Given the description of an element on the screen output the (x, y) to click on. 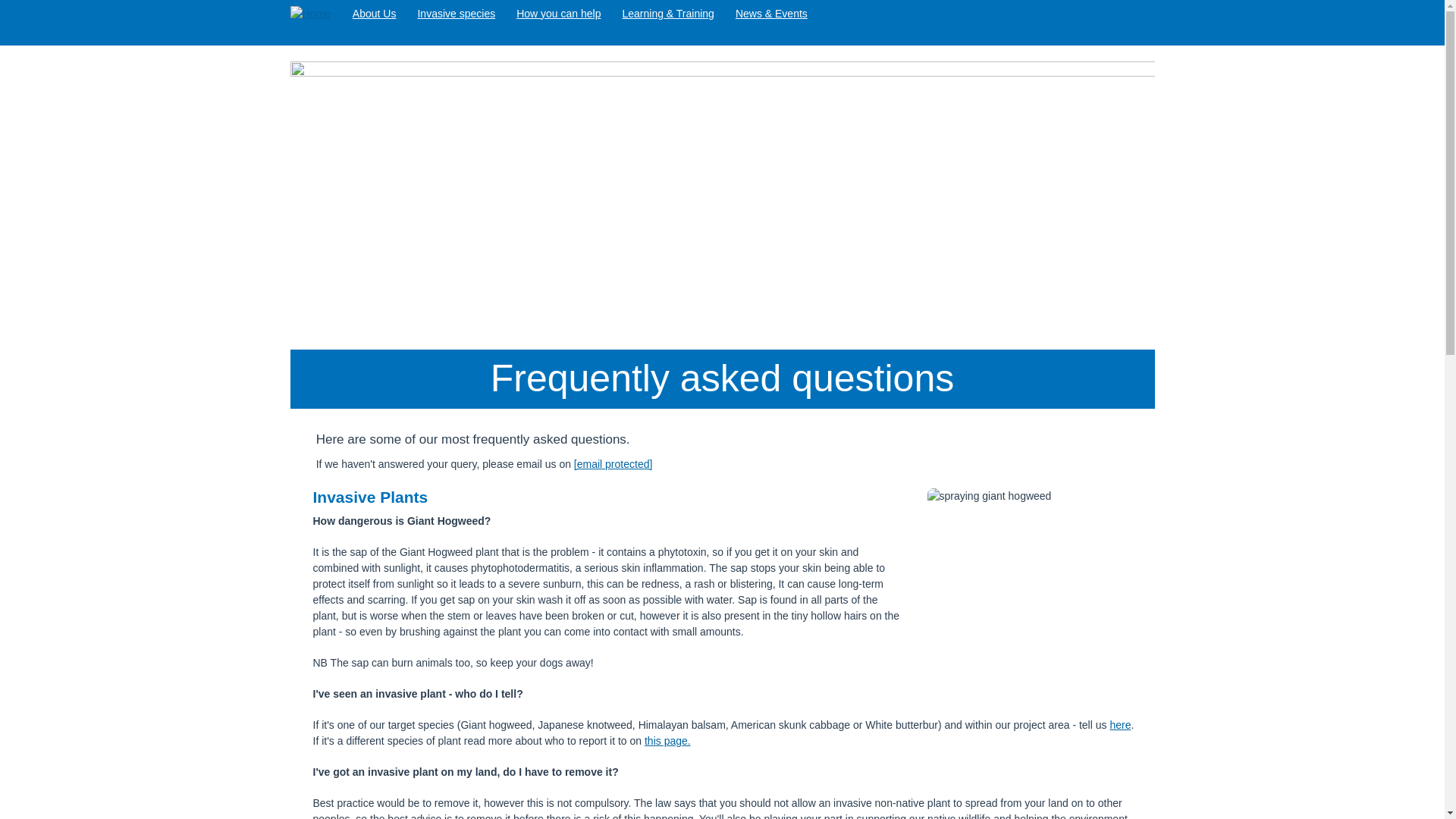
Invasive species (455, 13)
About Us (374, 13)
Home (314, 13)
How you can help (558, 13)
